Given the description of an element on the screen output the (x, y) to click on. 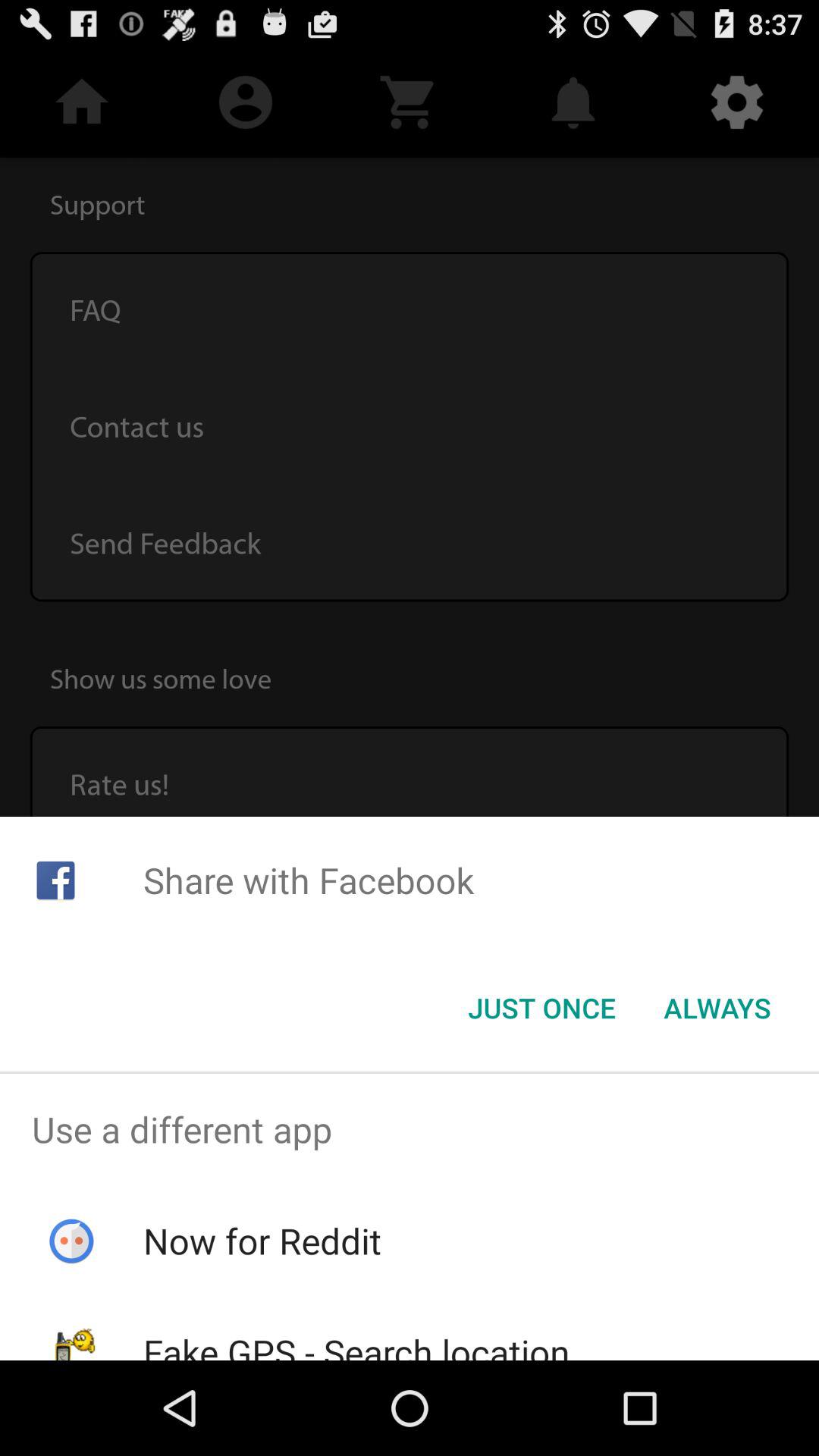
turn off icon to the right of just once icon (717, 1007)
